Given the description of an element on the screen output the (x, y) to click on. 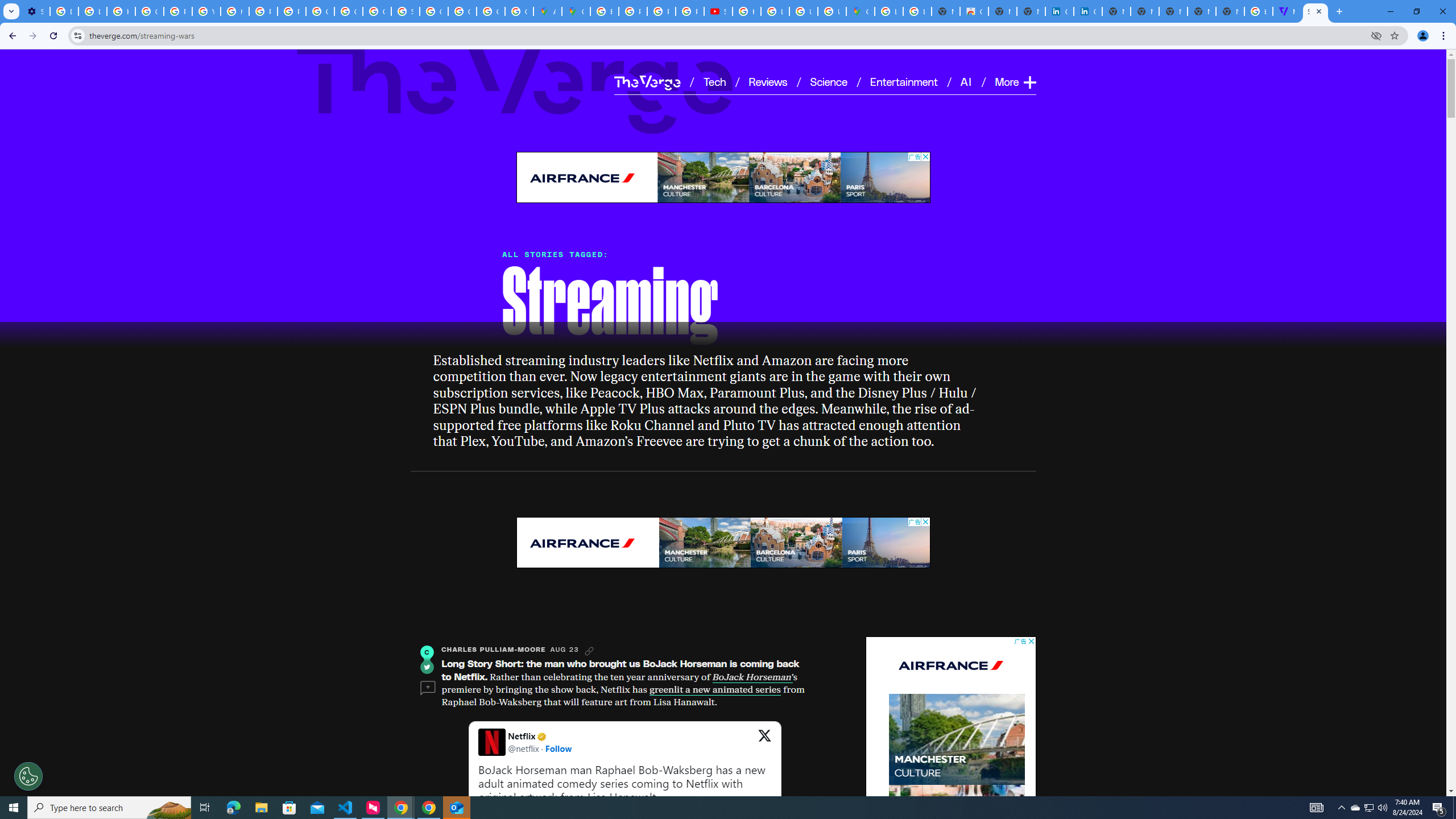
Open Preferences (28, 776)
How Chrome protects your passwords - Google Chrome Help (746, 11)
Expand (1029, 81)
Delete photos & videos - Computer - Google Photos Help (63, 11)
Cookie Policy | LinkedIn (1088, 11)
